Given the description of an element on the screen output the (x, y) to click on. 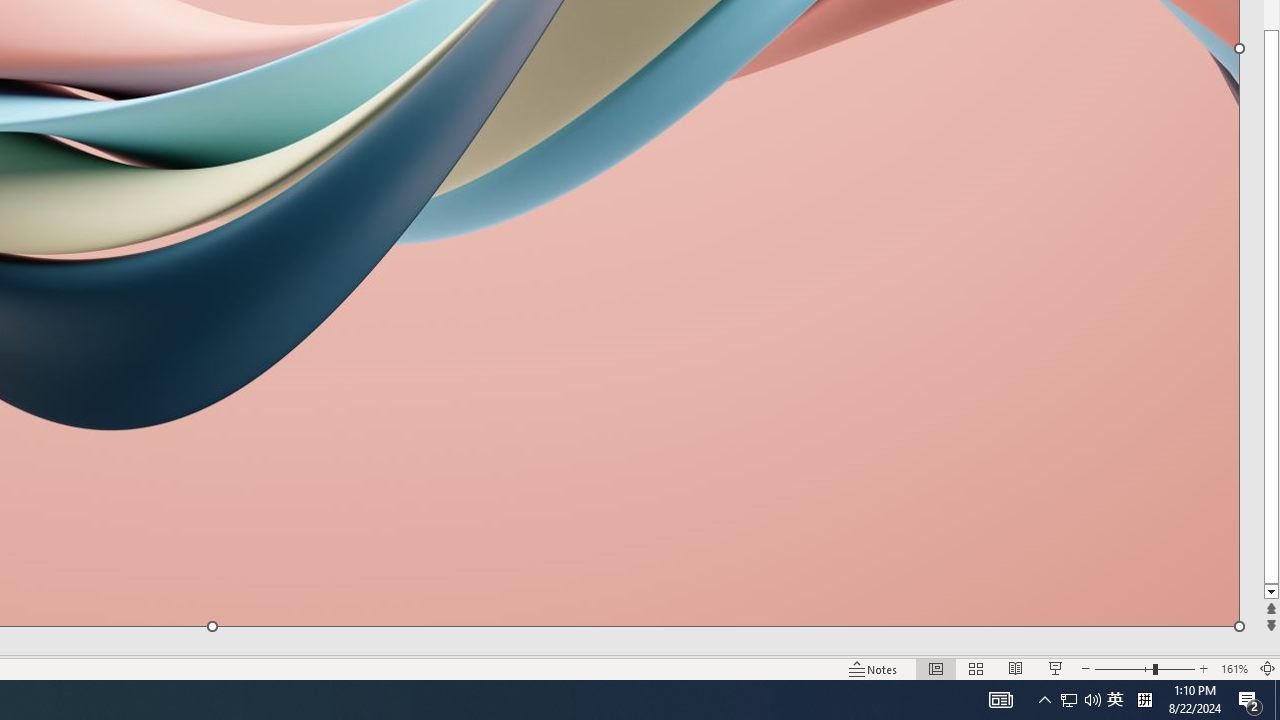
Zoom 161% (1234, 668)
